Given the description of an element on the screen output the (x, y) to click on. 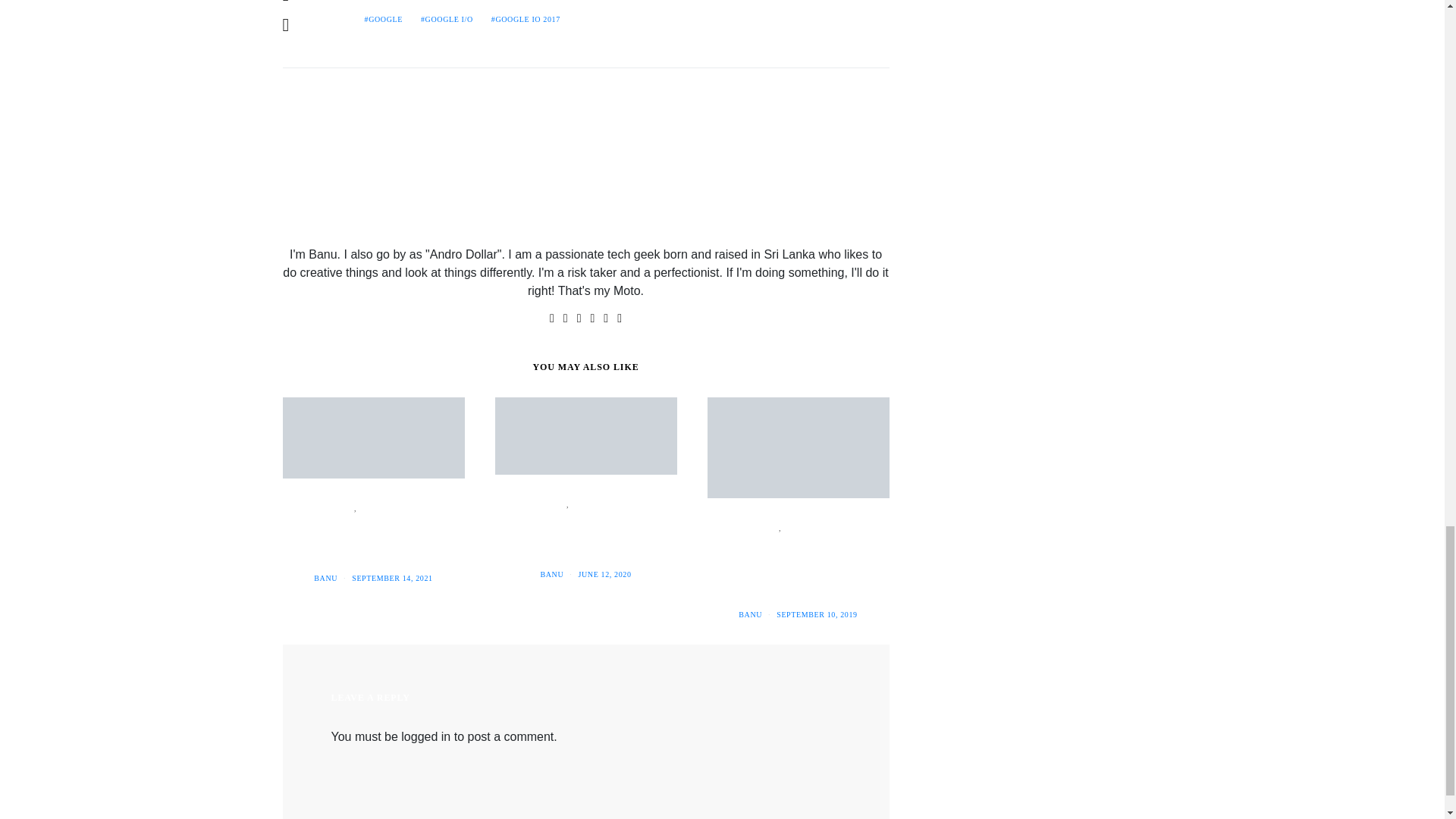
View all posts by Banu (749, 614)
View all posts by Banu (325, 578)
GOOGLE (382, 19)
View all posts by Banu (551, 574)
